Given the description of an element on the screen output the (x, y) to click on. 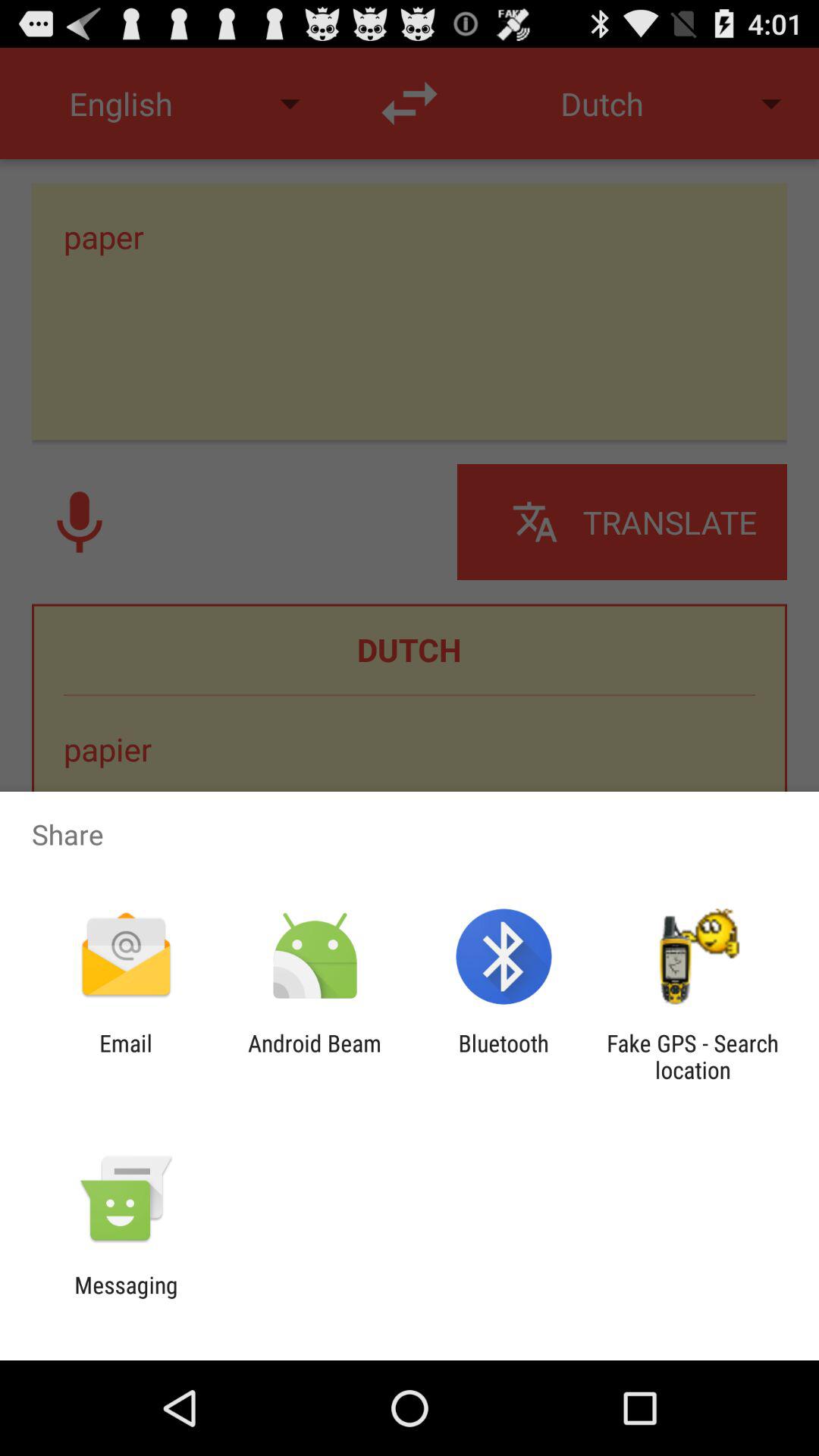
open the app to the right of email item (314, 1056)
